Given the description of an element on the screen output the (x, y) to click on. 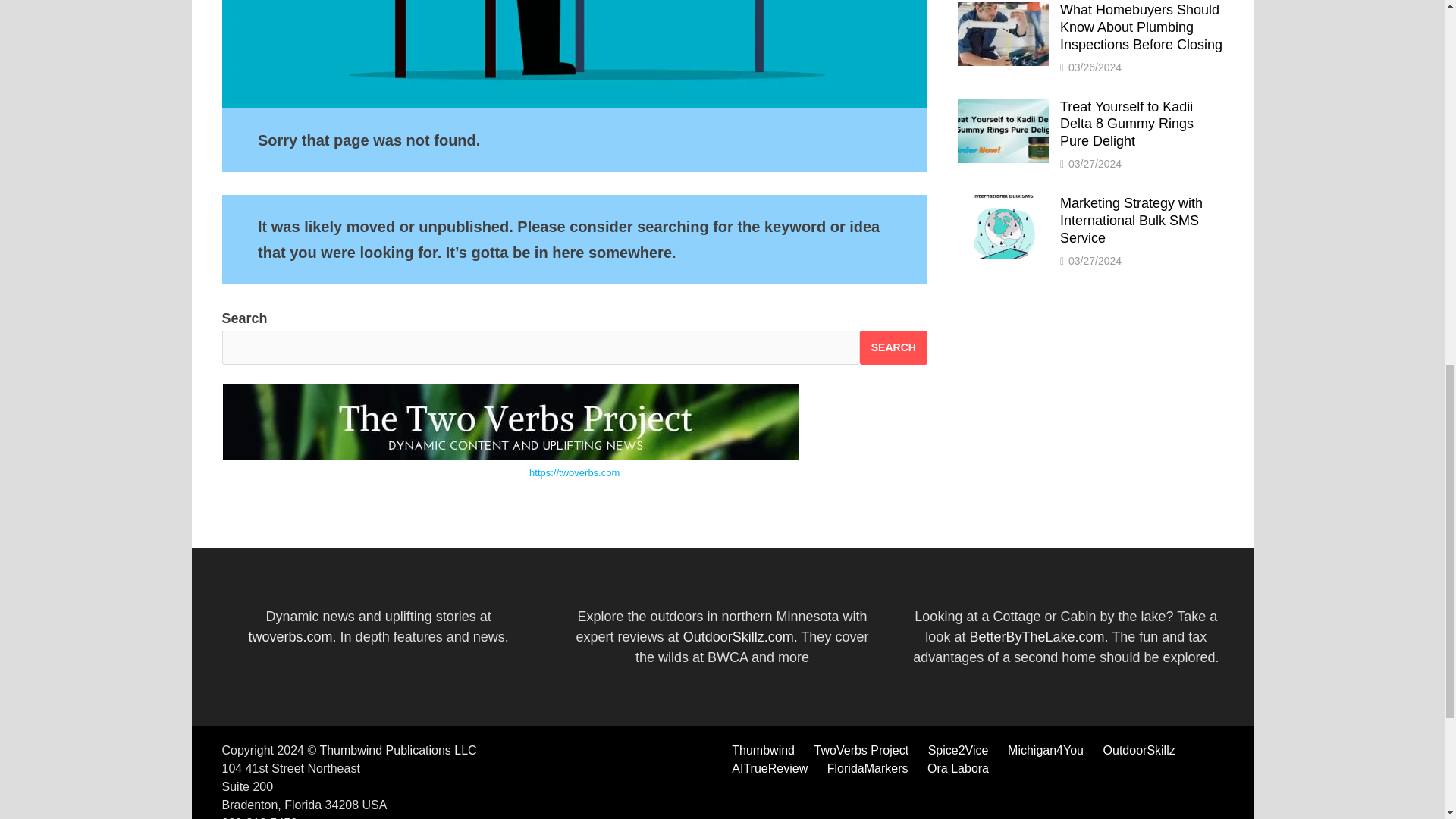
Treat Yourself to Kadii Delta 8 Gummy Rings Pure Delight (1003, 108)
SEARCH (893, 347)
Marketing Strategy with International Bulk SMS Service (1003, 204)
